Given the description of an element on the screen output the (x, y) to click on. 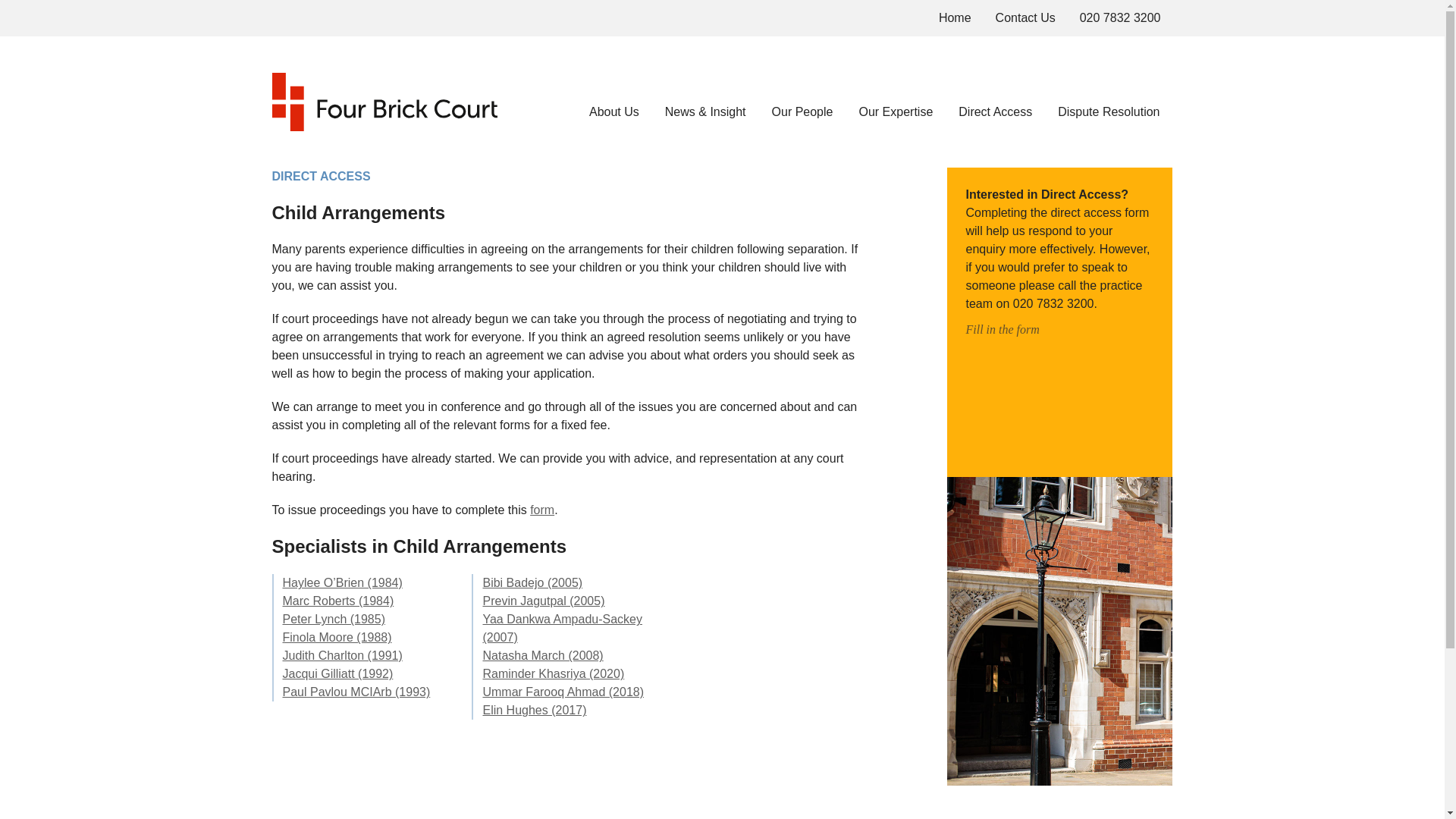
Home (955, 17)
Four Brick Court (383, 101)
020 7832 3200 (1120, 17)
Our Expertise (896, 111)
Our People (801, 111)
Contact Us (1025, 17)
About Us (614, 111)
Dispute Resolution (1108, 111)
Direct Access (995, 111)
